Given the description of an element on the screen output the (x, y) to click on. 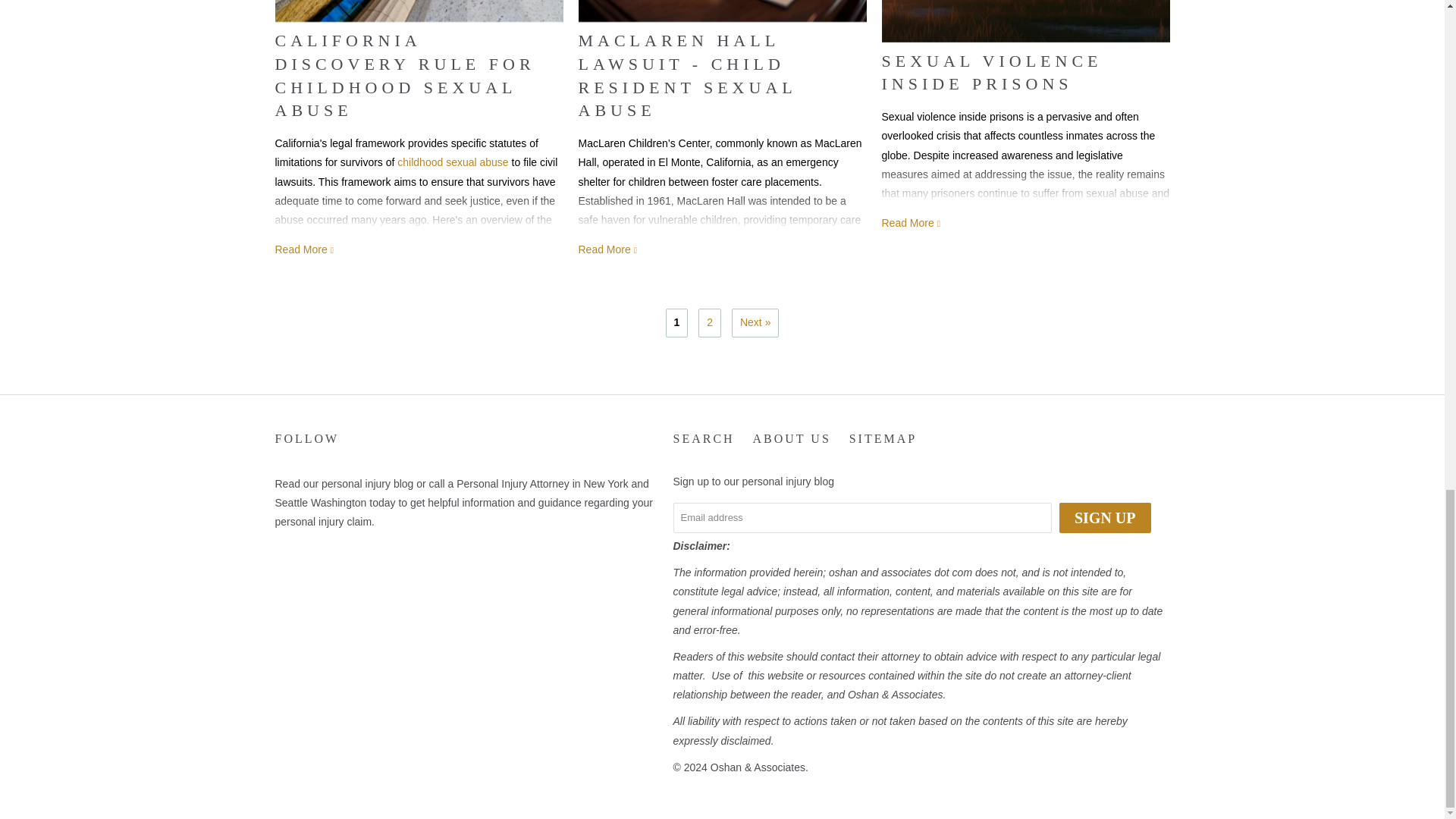
Sign Up (1105, 517)
California Discovery Rule for Childhood Sexual Abuse (418, 11)
CHILDHOOD SEXUAL ABUSE (452, 162)
